Given the description of an element on the screen output the (x, y) to click on. 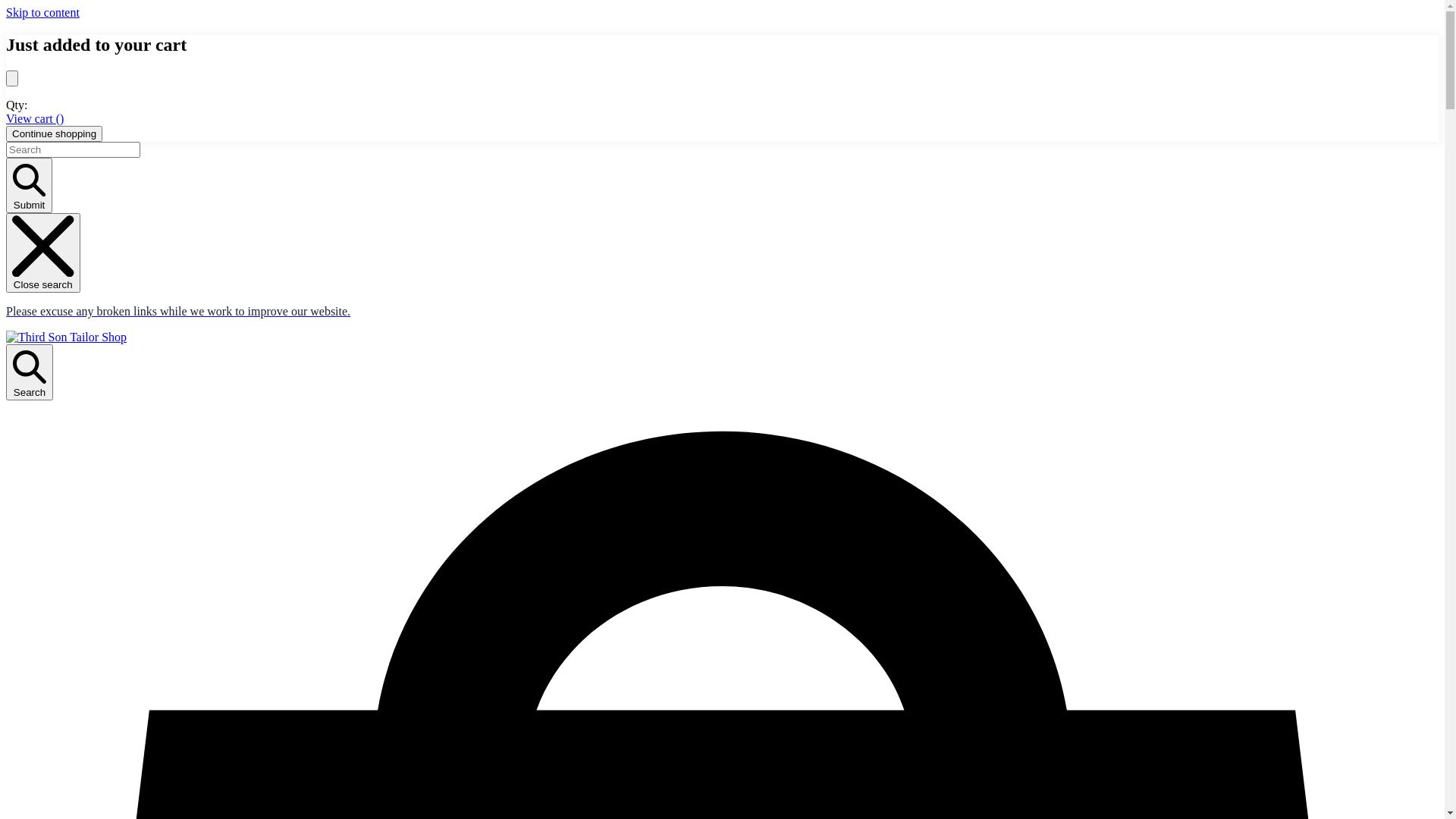
Submit Element type: text (29, 185)
Skip to content Element type: text (42, 12)
Search Element type: text (29, 372)
Continue shopping Element type: text (54, 133)
Close search Element type: text (43, 253)
View cart () Element type: text (34, 118)
